Given the description of an element on the screen output the (x, y) to click on. 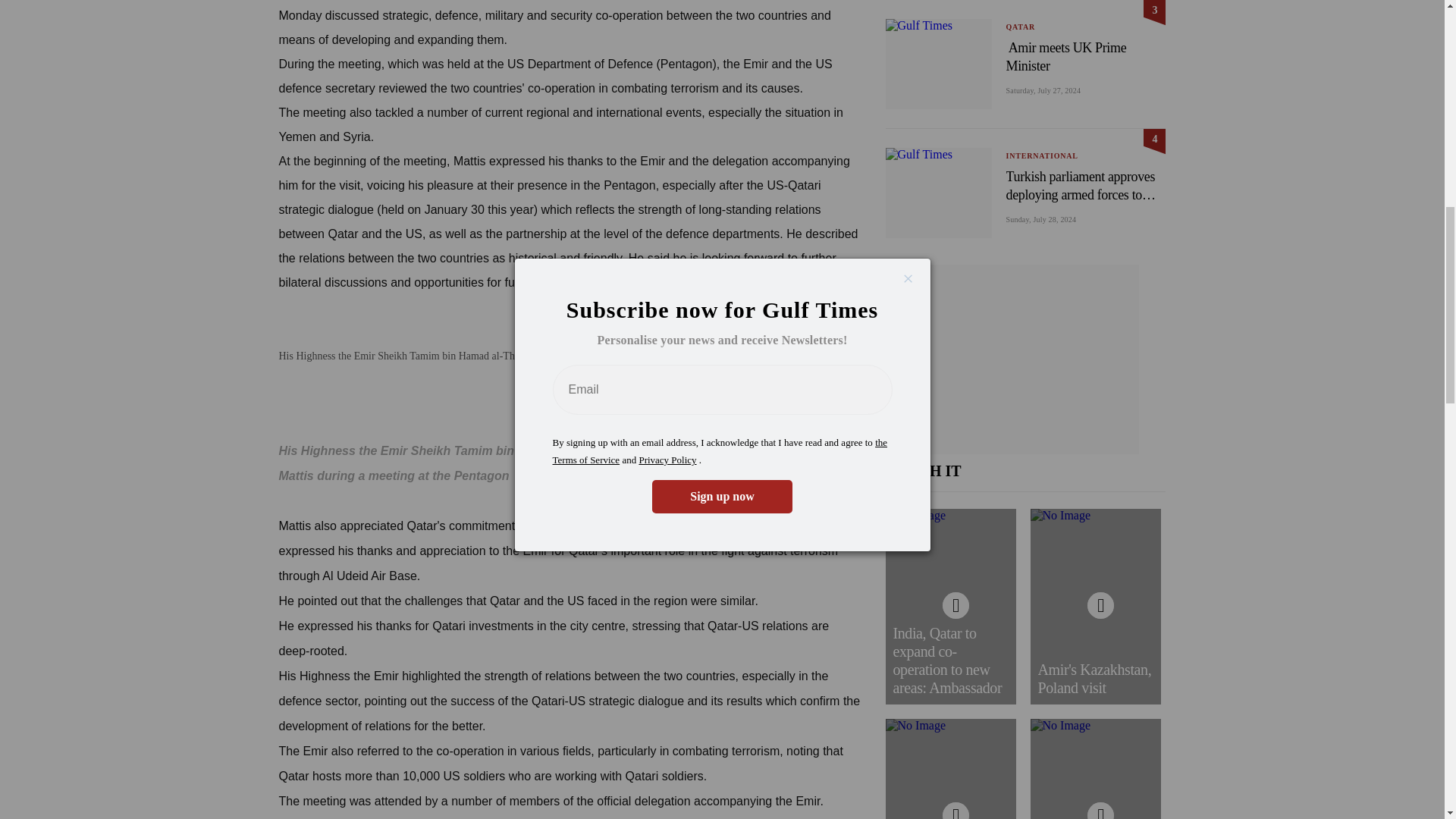
INTERNATIONAL (1041, 155)
QATAR (1020, 26)
 Amir meets UK Prime Minister (1085, 56)
